Given the description of an element on the screen output the (x, y) to click on. 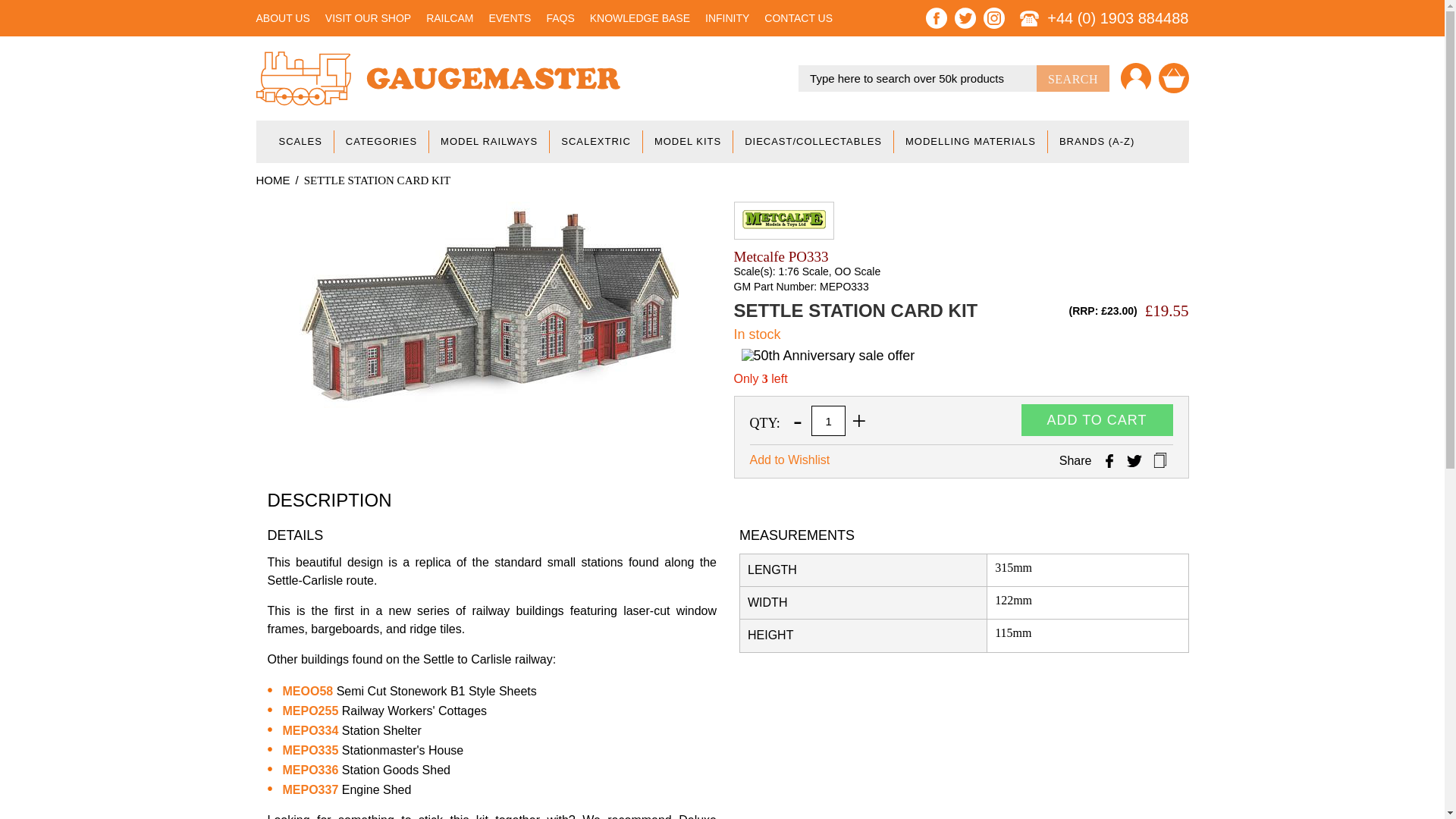
INFINITY (726, 18)
Go to Home Page (272, 179)
Share on Facebook (1109, 460)
Click to View (309, 749)
1 (827, 420)
SCALES (299, 141)
Click to View (309, 769)
Click to View (307, 690)
RAILCAM (449, 18)
CONTACT US (798, 18)
